Given the description of an element on the screen output the (x, y) to click on. 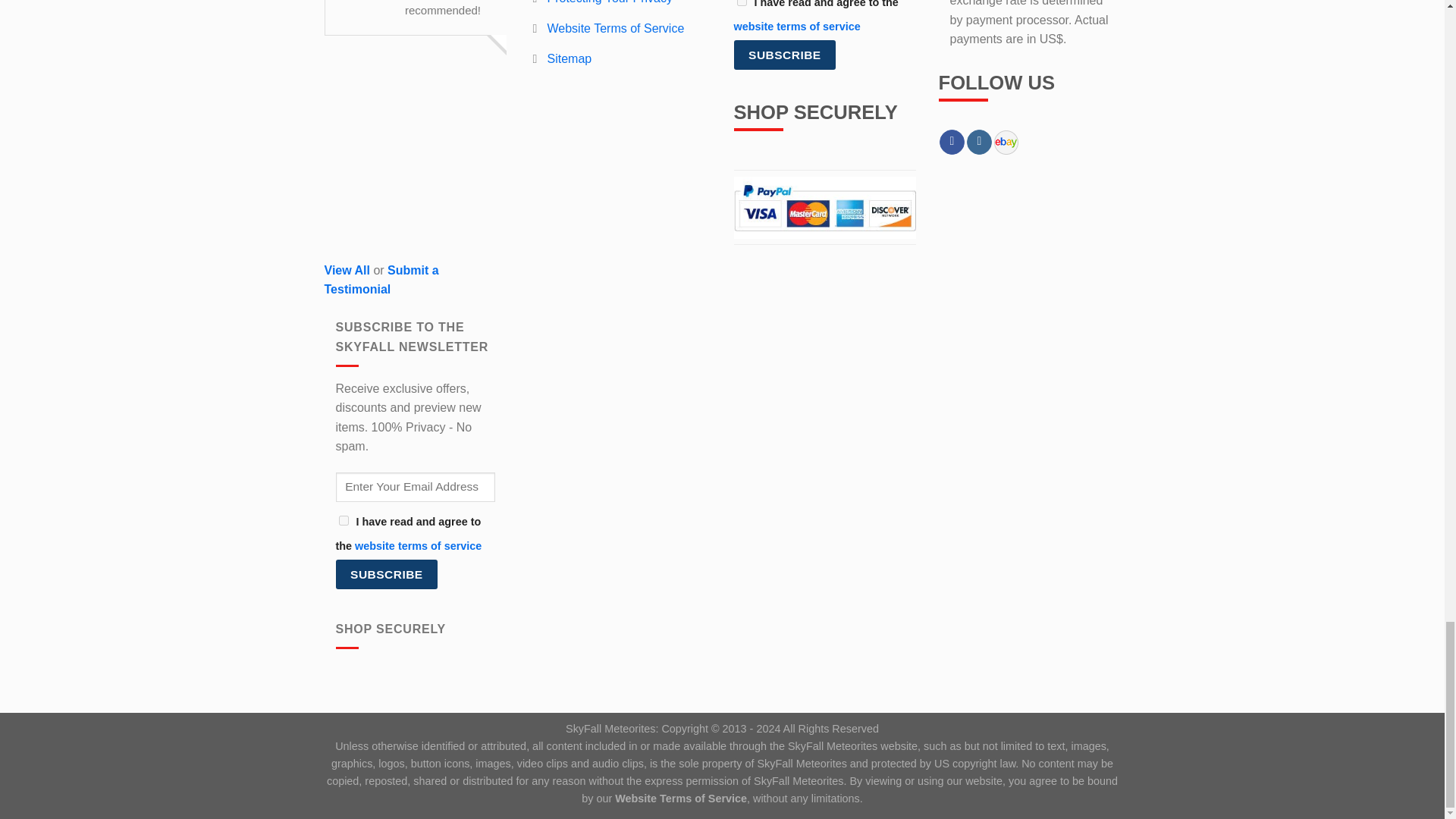
Subscribe (386, 573)
Follow on Ebay (1005, 142)
How PayPal Works (824, 206)
1 (342, 520)
Follow on Instagram (978, 142)
Subscribe (784, 54)
1 (741, 2)
Follow on Facebook (951, 142)
